Given the description of an element on the screen output the (x, y) to click on. 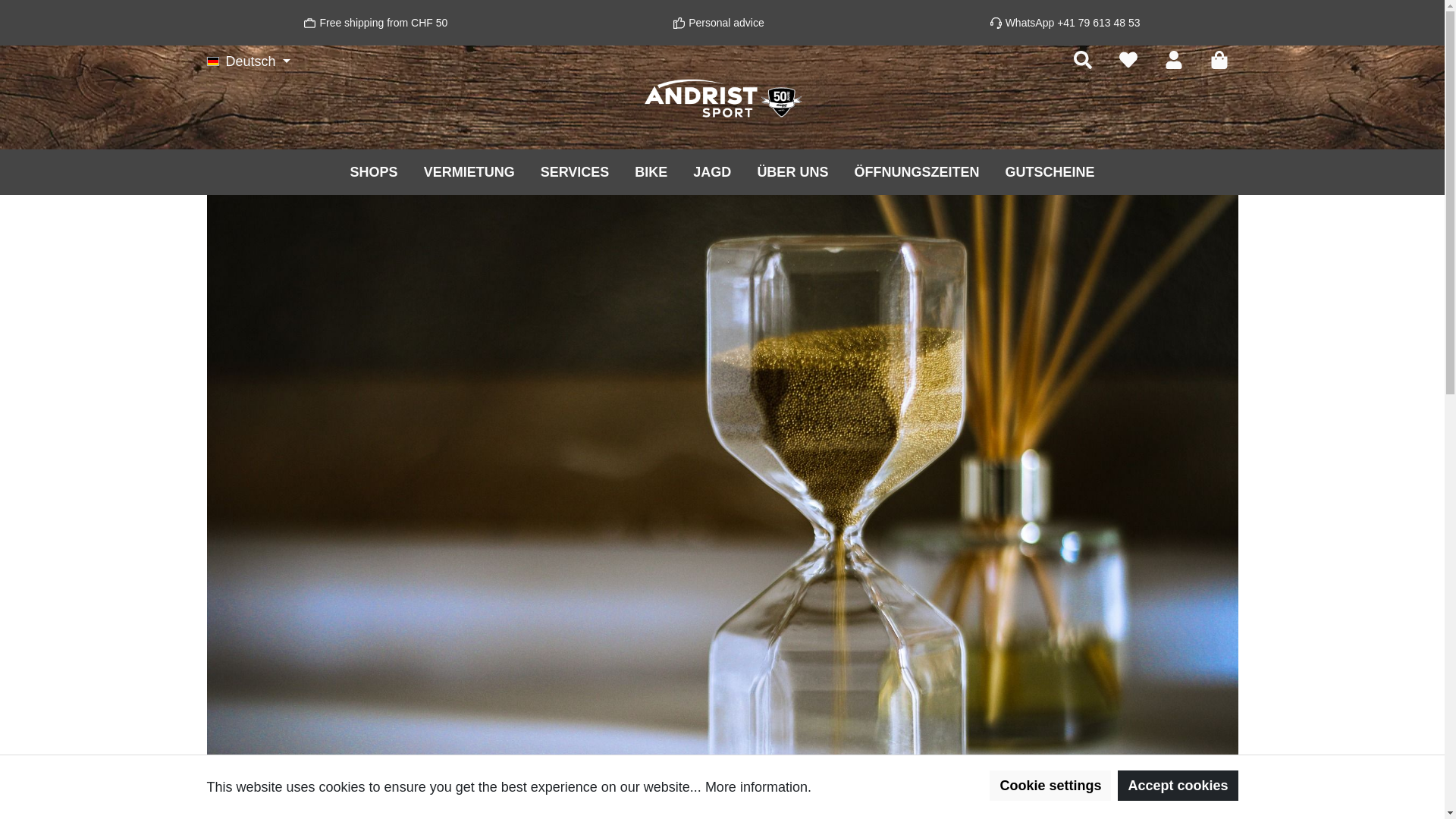
BIKE Element type: text (650, 171)
Go to homepage Element type: hover (721, 98)
+41 79 613 48 53 Element type: text (1098, 22)
JAGD Element type: text (711, 171)
Shopping cart Element type: hover (1218, 59)
Deutsch Element type: text (248, 61)
More information Element type: text (756, 786)
Wishlist Element type: hover (1127, 59)
Cookie settings Element type: text (1049, 785)
My account Element type: hover (1173, 59)
Accept cookies Element type: text (1177, 785)
GUTSCHEINE Element type: text (1049, 171)
